Given the description of an element on the screen output the (x, y) to click on. 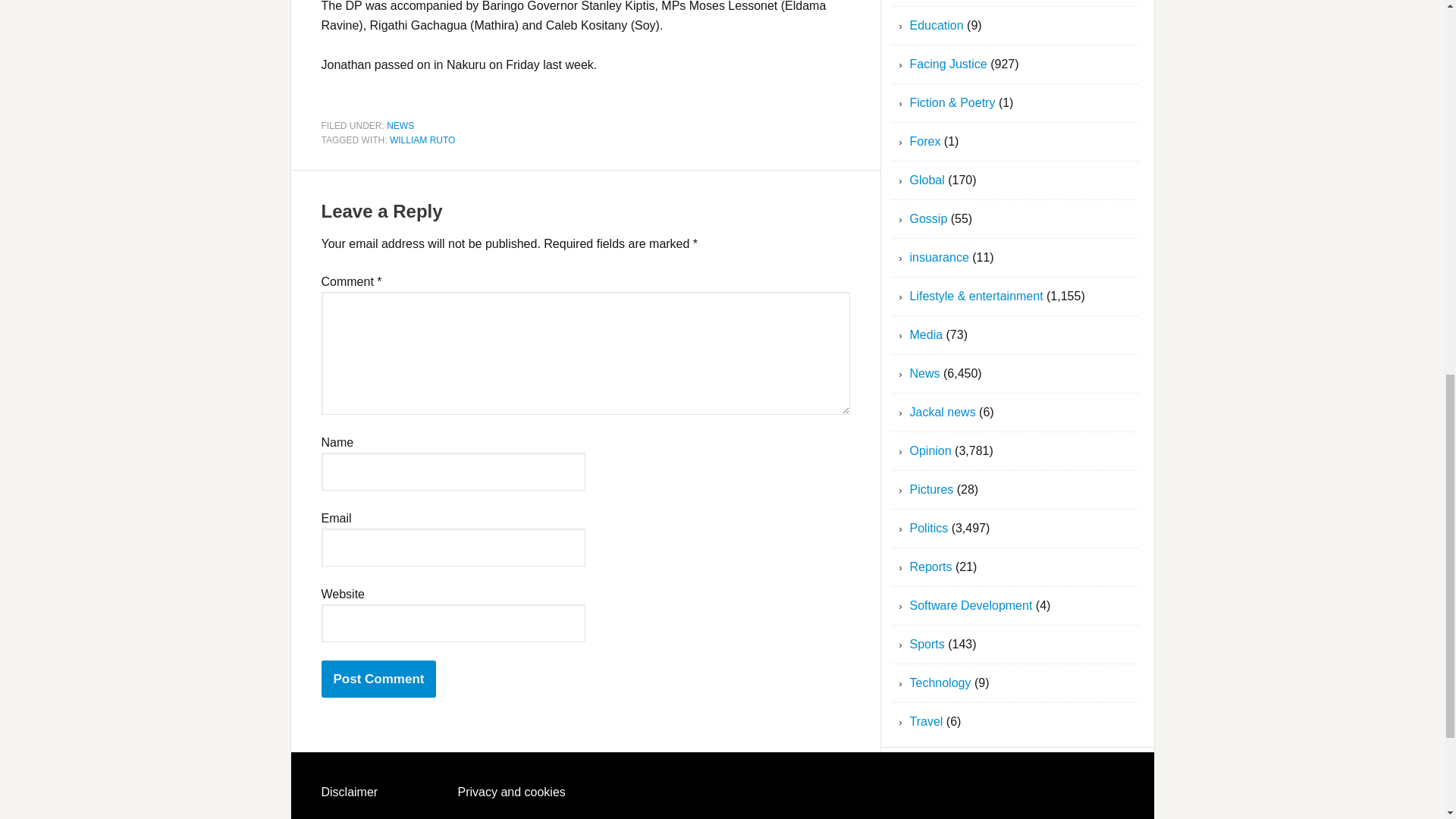
Post Comment (378, 678)
Jackal news (942, 411)
WILLIAM RUTO (422, 140)
Gossip (928, 218)
Pictures (931, 489)
Media (926, 334)
NEWS (400, 124)
insuarance (939, 256)
Facing Justice (948, 63)
Politics (929, 527)
Education (936, 24)
News (925, 373)
Post Comment (378, 678)
Global (927, 179)
Opinion (931, 450)
